Given the description of an element on the screen output the (x, y) to click on. 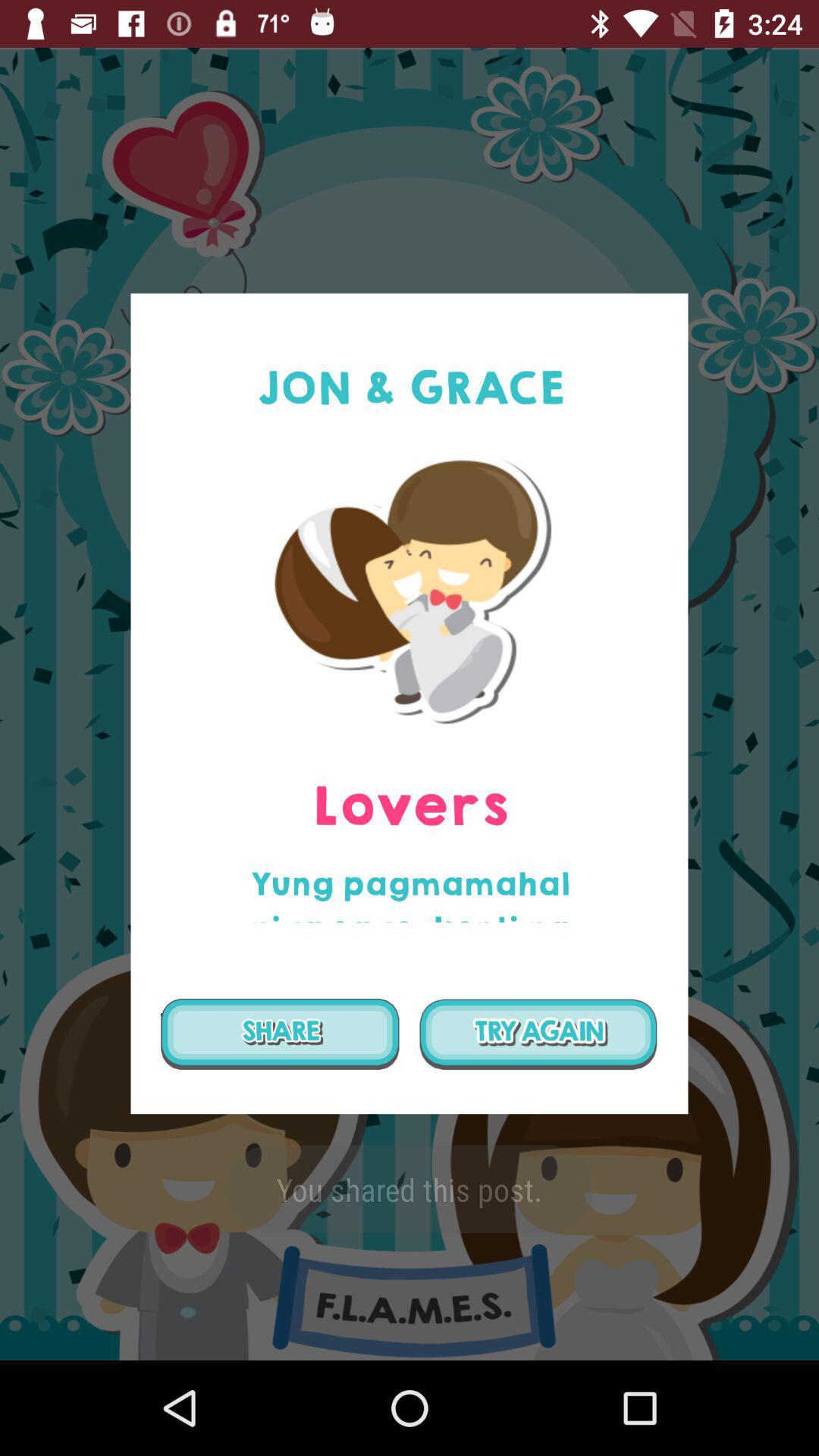
share the photo (279, 1034)
